Given the description of an element on the screen output the (x, y) to click on. 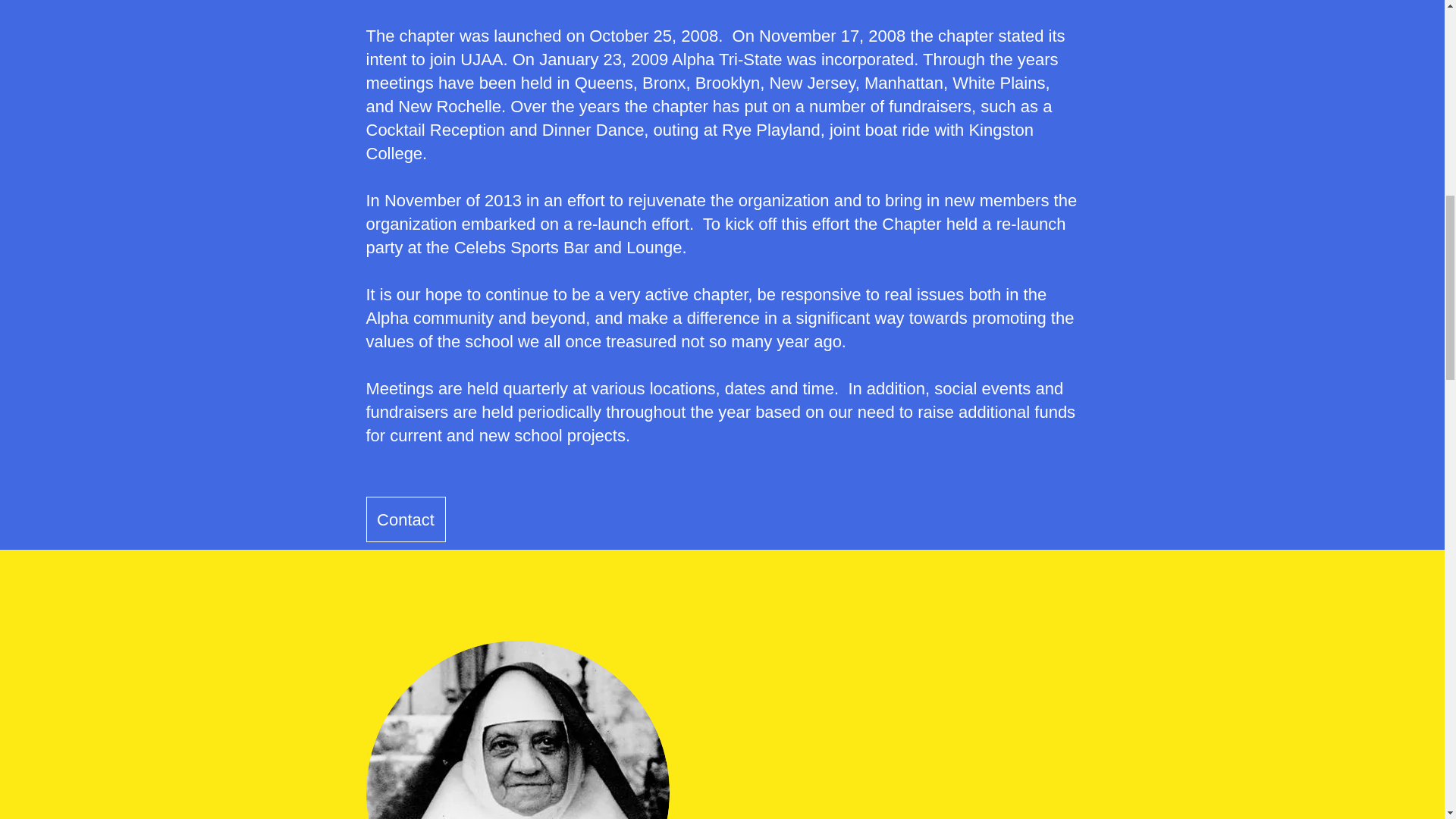
Contact (405, 519)
